Given the description of an element on the screen output the (x, y) to click on. 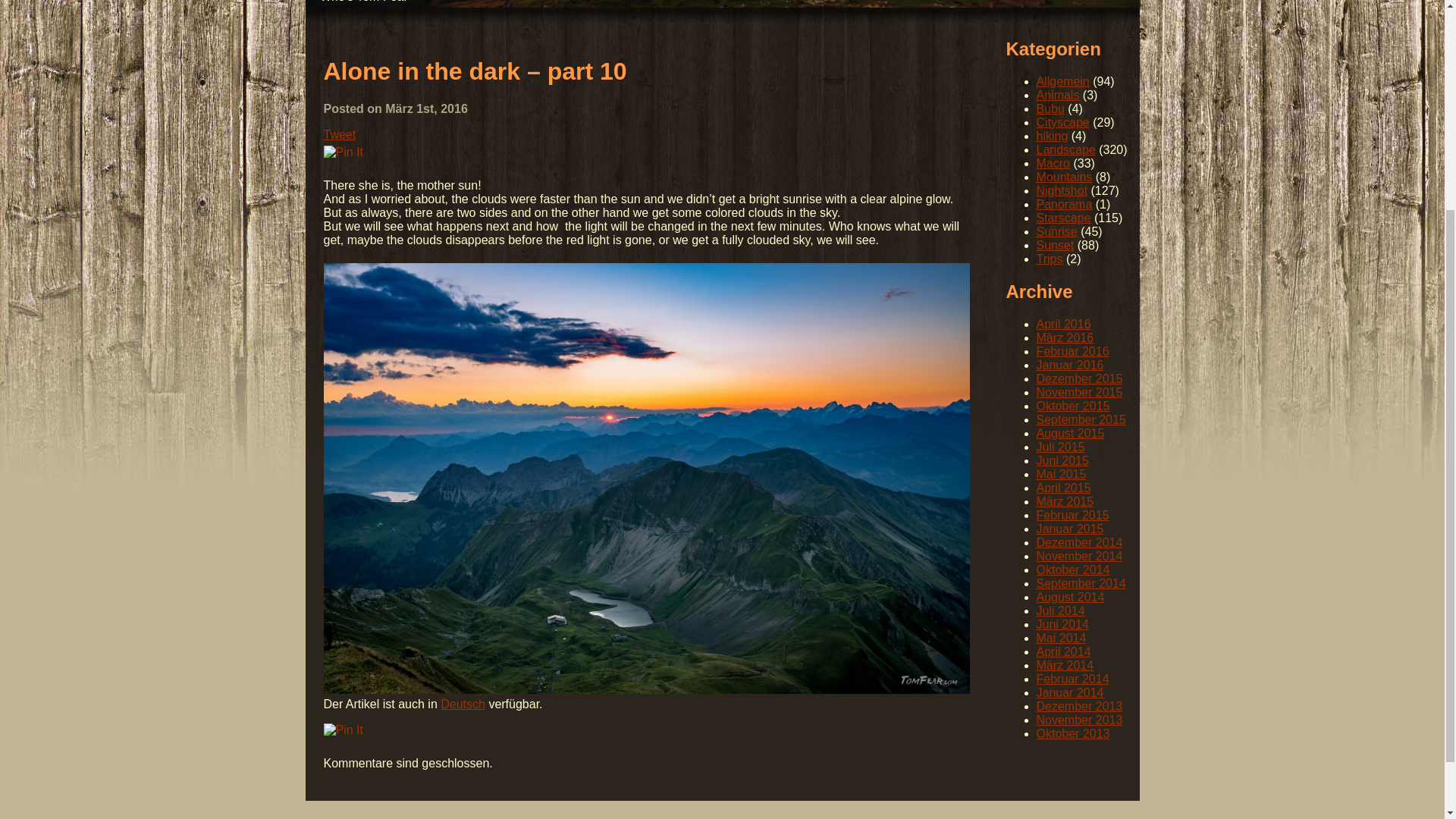
Pin It (342, 151)
Sunset (1054, 245)
August 2015 (1069, 432)
Pin It (342, 730)
Juni 2015 (1061, 460)
Sunrise (1056, 231)
April 2016 (1062, 323)
Starscape (1062, 217)
Allgemein (1062, 81)
November 2015 (1078, 391)
